Given the description of an element on the screen output the (x, y) to click on. 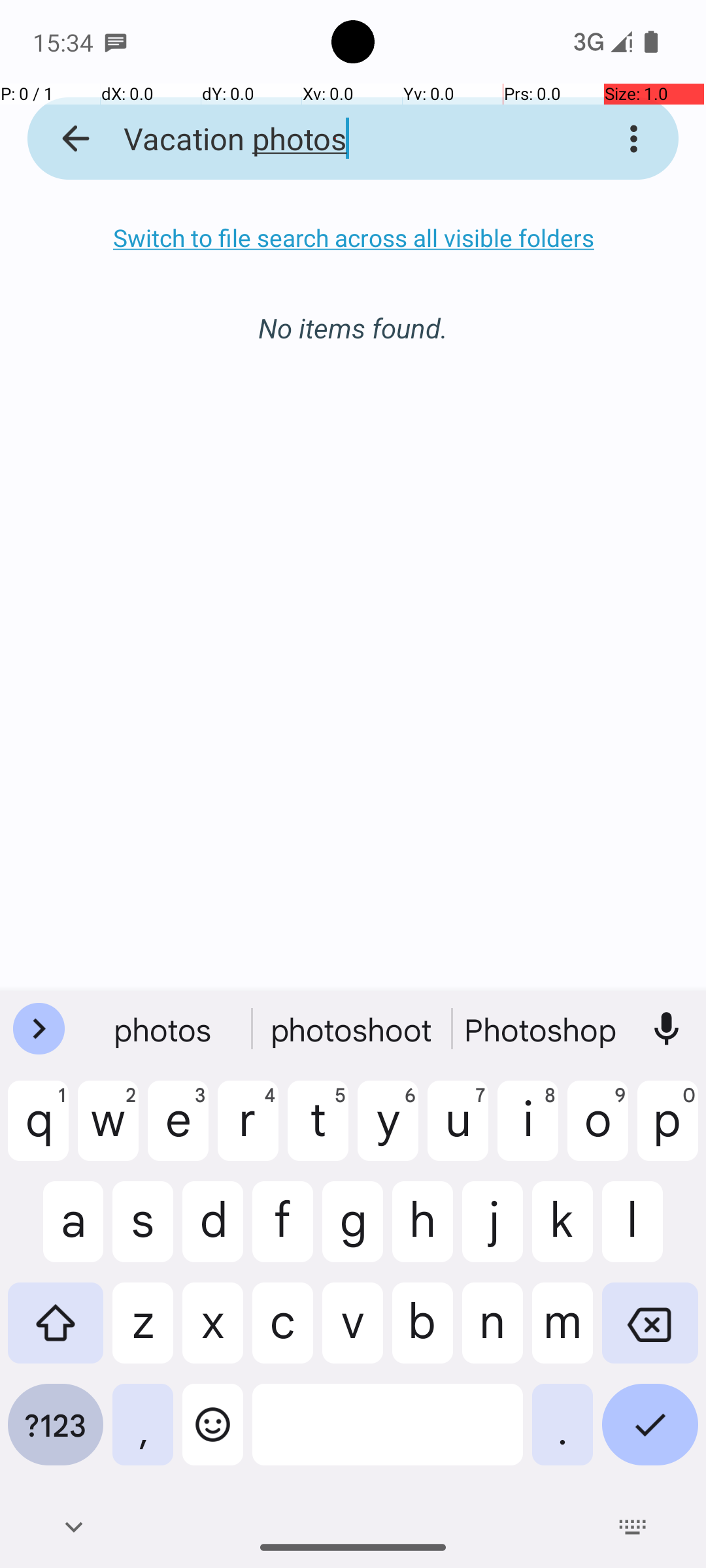
Switch to file search across all visible folders Element type: android.widget.TextView (353, 237)
No items found. Element type: android.widget.TextView (353, 313)
Vacation photos Element type: android.widget.EditText (335, 138)
photos Element type: android.widget.FrameLayout (163, 1028)
photography Element type: android.widget.FrameLayout (541, 1028)
